Given the description of an element on the screen output the (x, y) to click on. 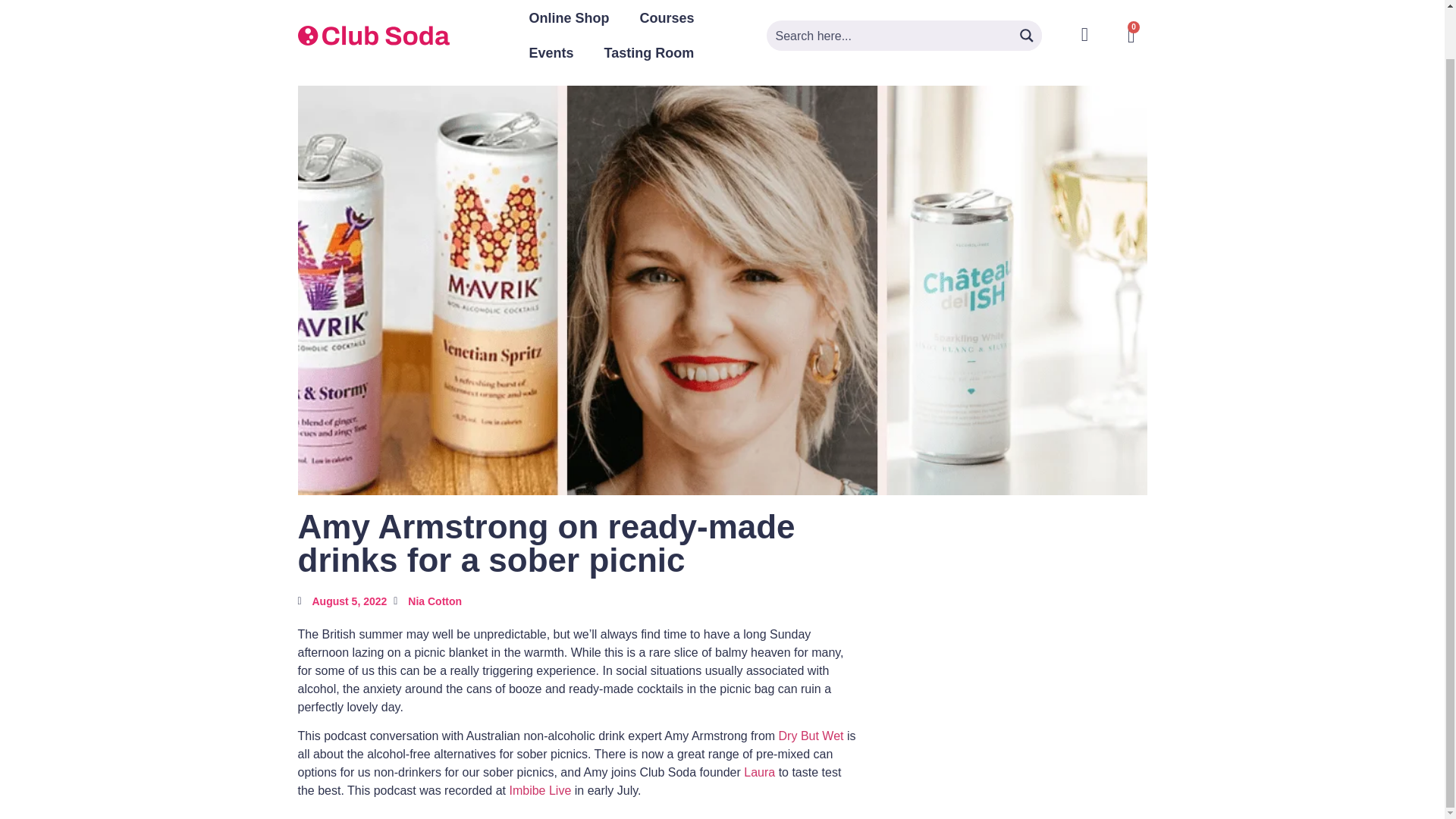
Tasting Room (649, 53)
Laura (759, 771)
Courses (667, 18)
Imbibe Live (539, 789)
Events (551, 53)
Online Shop (568, 18)
0 (1131, 35)
Dry But Wet (811, 735)
